Given the description of an element on the screen output the (x, y) to click on. 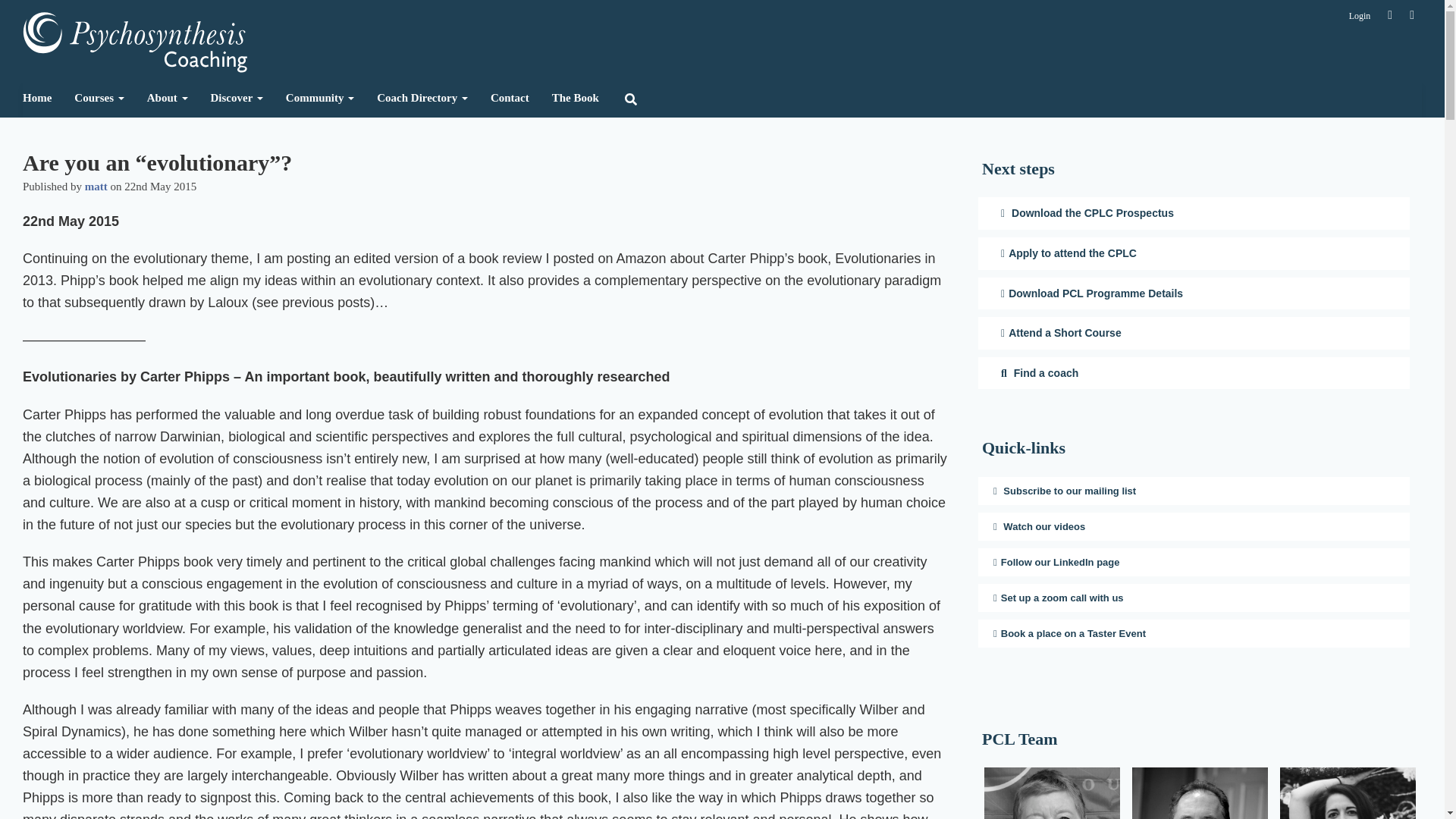
About (167, 98)
Community (320, 98)
Login (1359, 15)
Courses (98, 98)
About (167, 98)
Home (42, 98)
Discover (237, 98)
Courses (98, 98)
Home (42, 98)
Discover (237, 98)
